Given the description of an element on the screen output the (x, y) to click on. 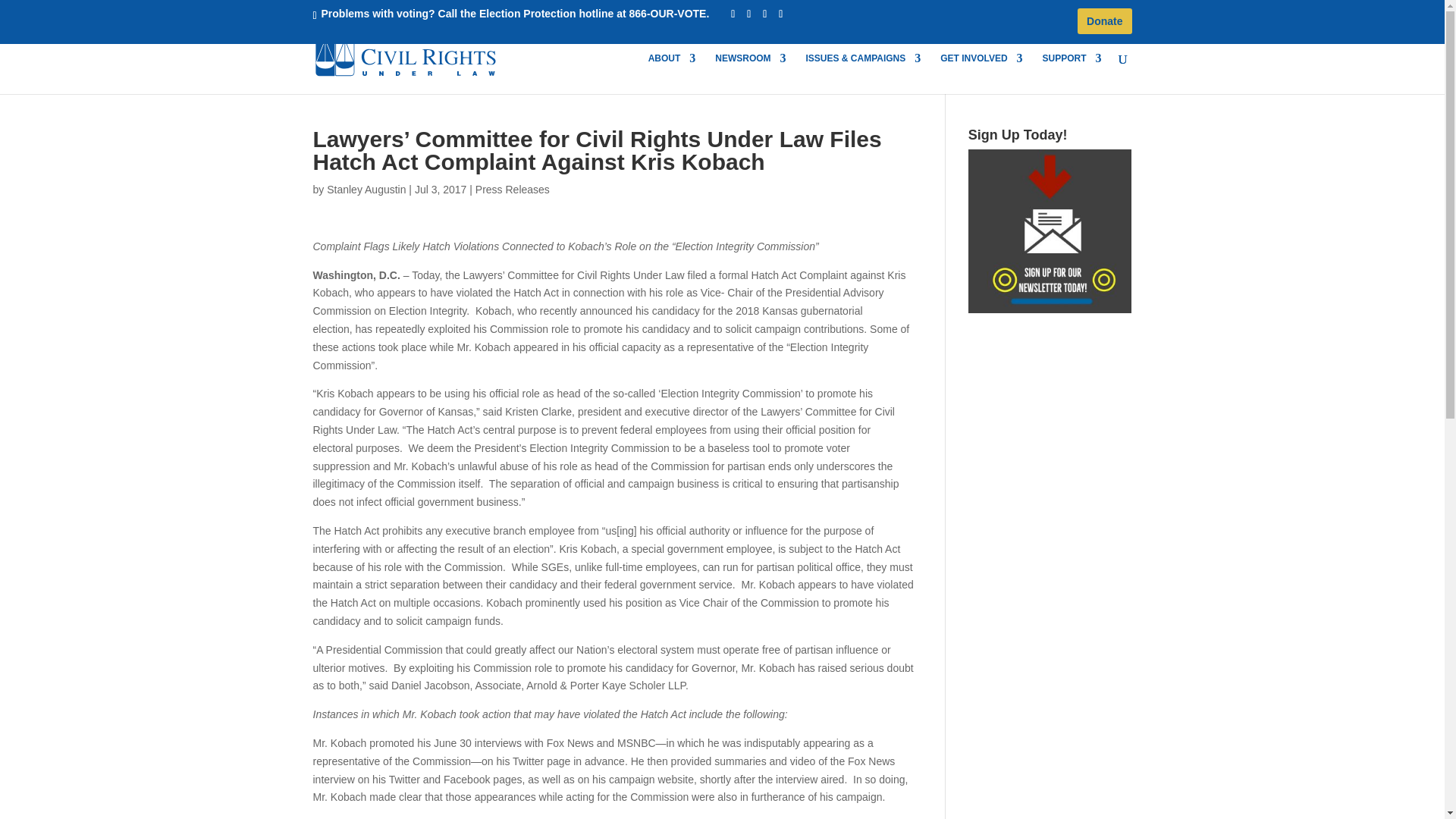
ABOUT (671, 73)
Posts by Stanley Augustin (366, 189)
NEWSROOM (750, 73)
Donate (1104, 20)
